Given the description of an element on the screen output the (x, y) to click on. 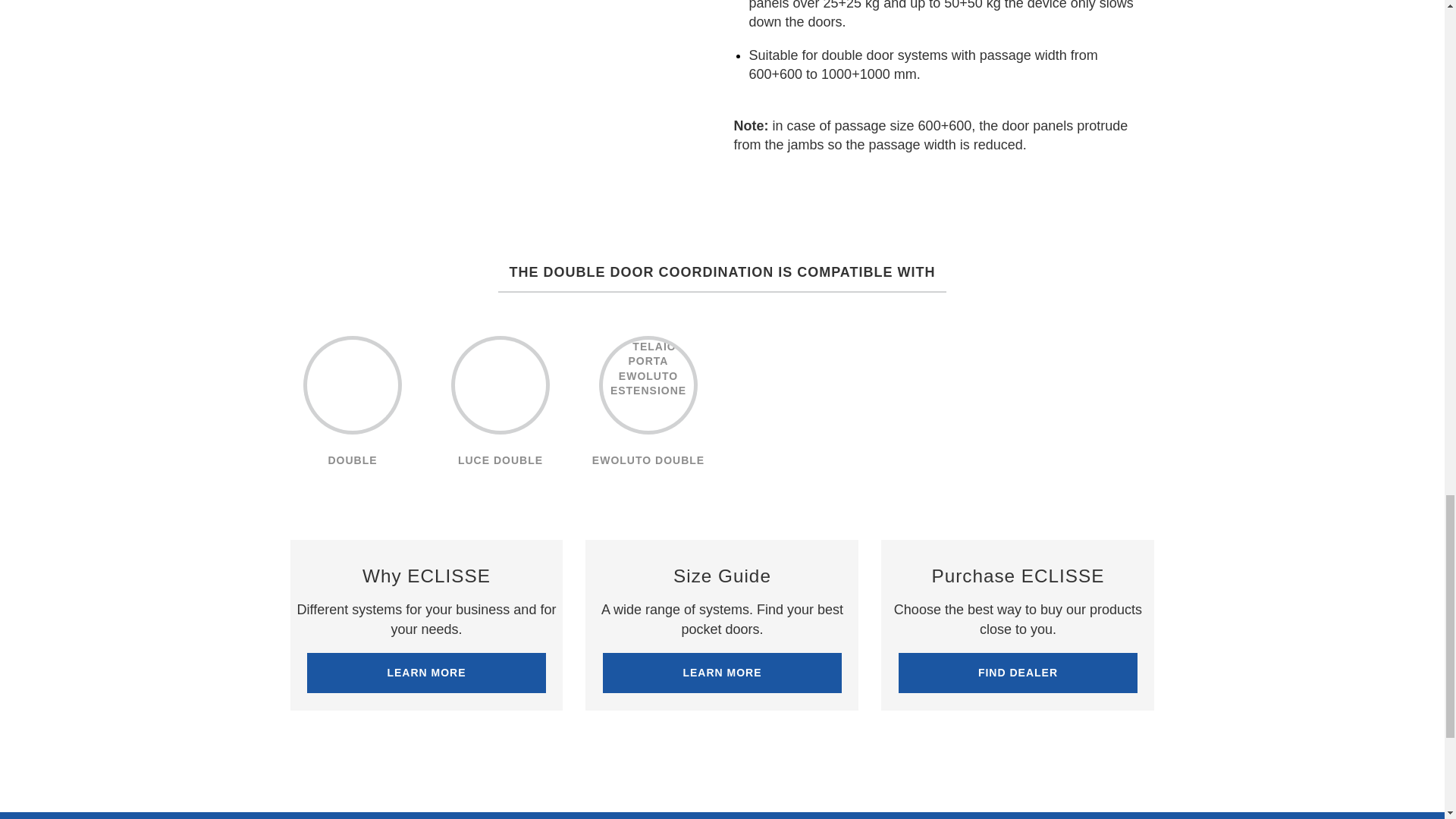
LEARN MORE (721, 672)
EWOLUTO DOUBLE (647, 405)
DOUBLE (351, 405)
LEARN MORE (426, 672)
LUCE DOUBLE (500, 405)
FIND DEALER (1017, 672)
